Given the description of an element on the screen output the (x, y) to click on. 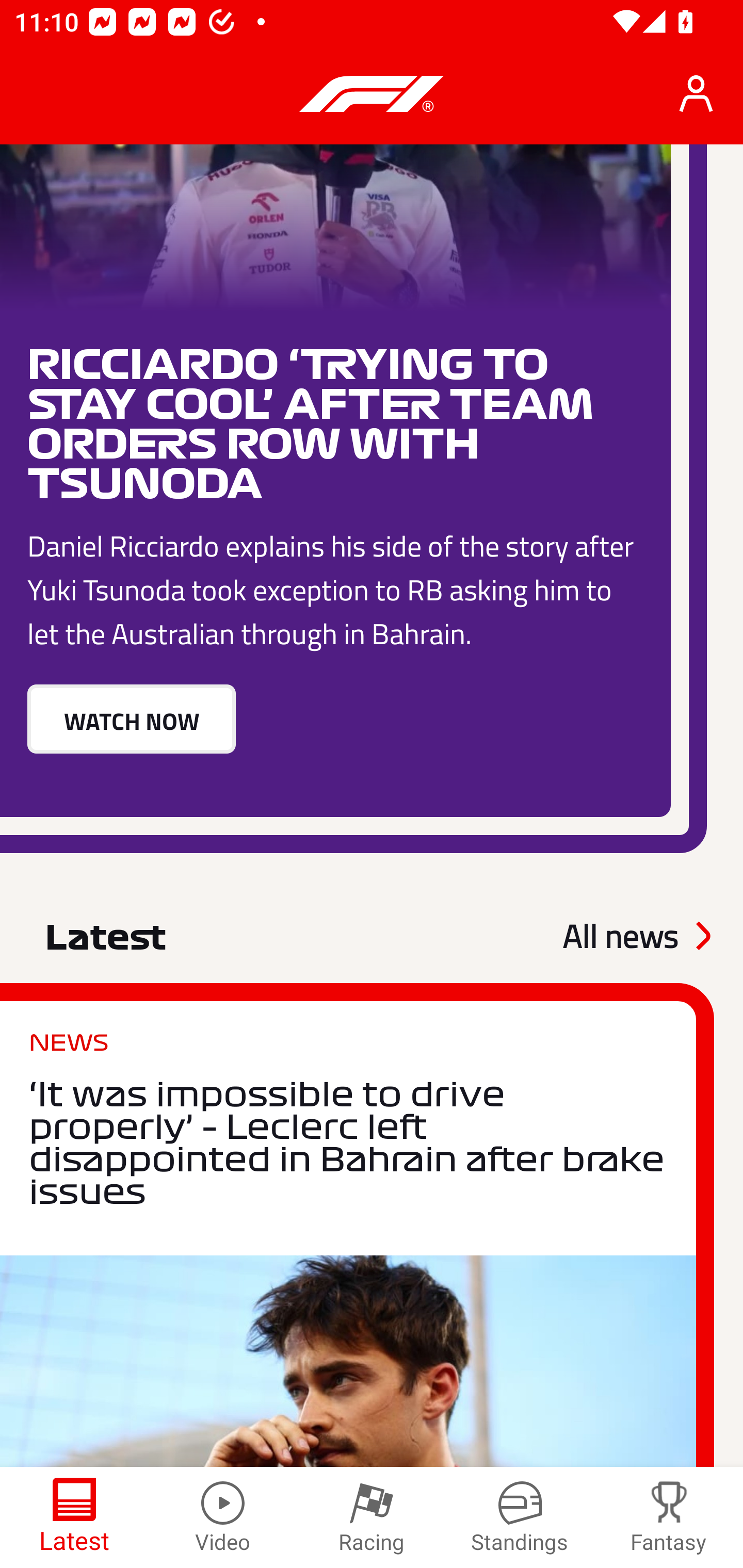
WATCH NOW (131, 719)
All news See all (635, 936)
Video (222, 1517)
Racing (371, 1517)
Standings (519, 1517)
Fantasy (668, 1517)
